Given the description of an element on the screen output the (x, y) to click on. 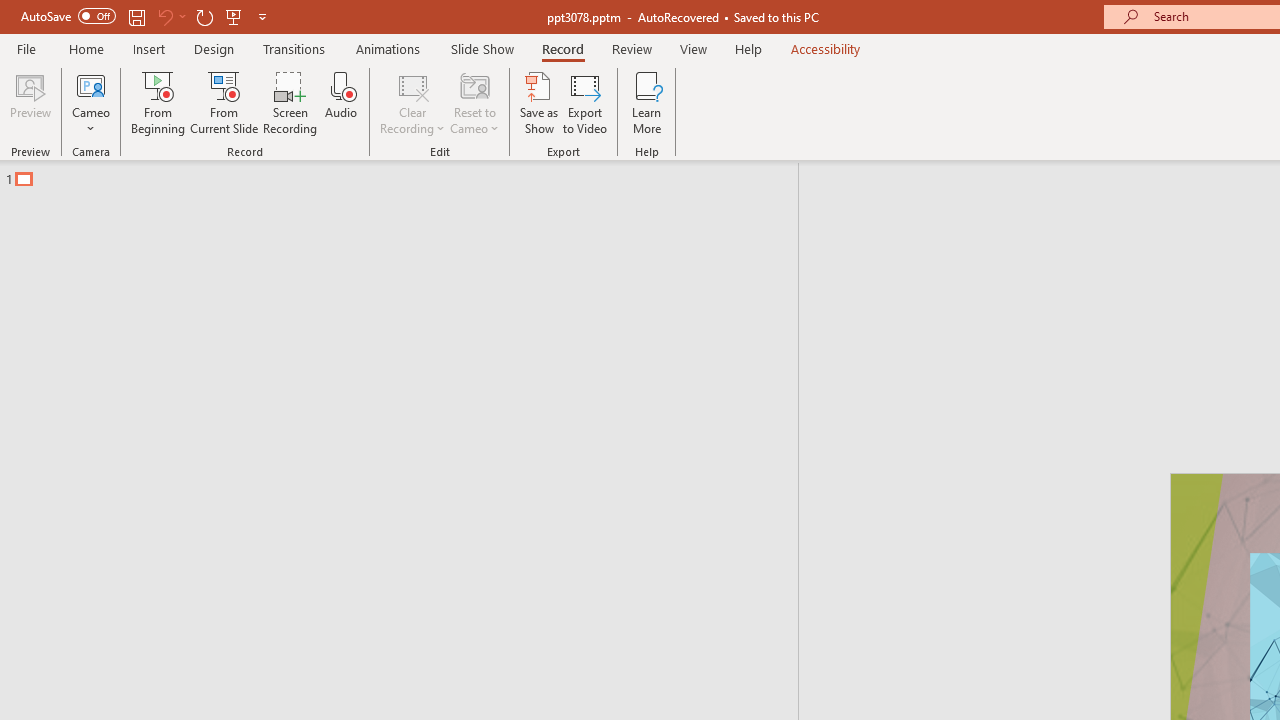
Export to Video (585, 102)
Preview (30, 102)
Save as Show (539, 102)
From Current Slide... (224, 102)
